Given the description of an element on the screen output the (x, y) to click on. 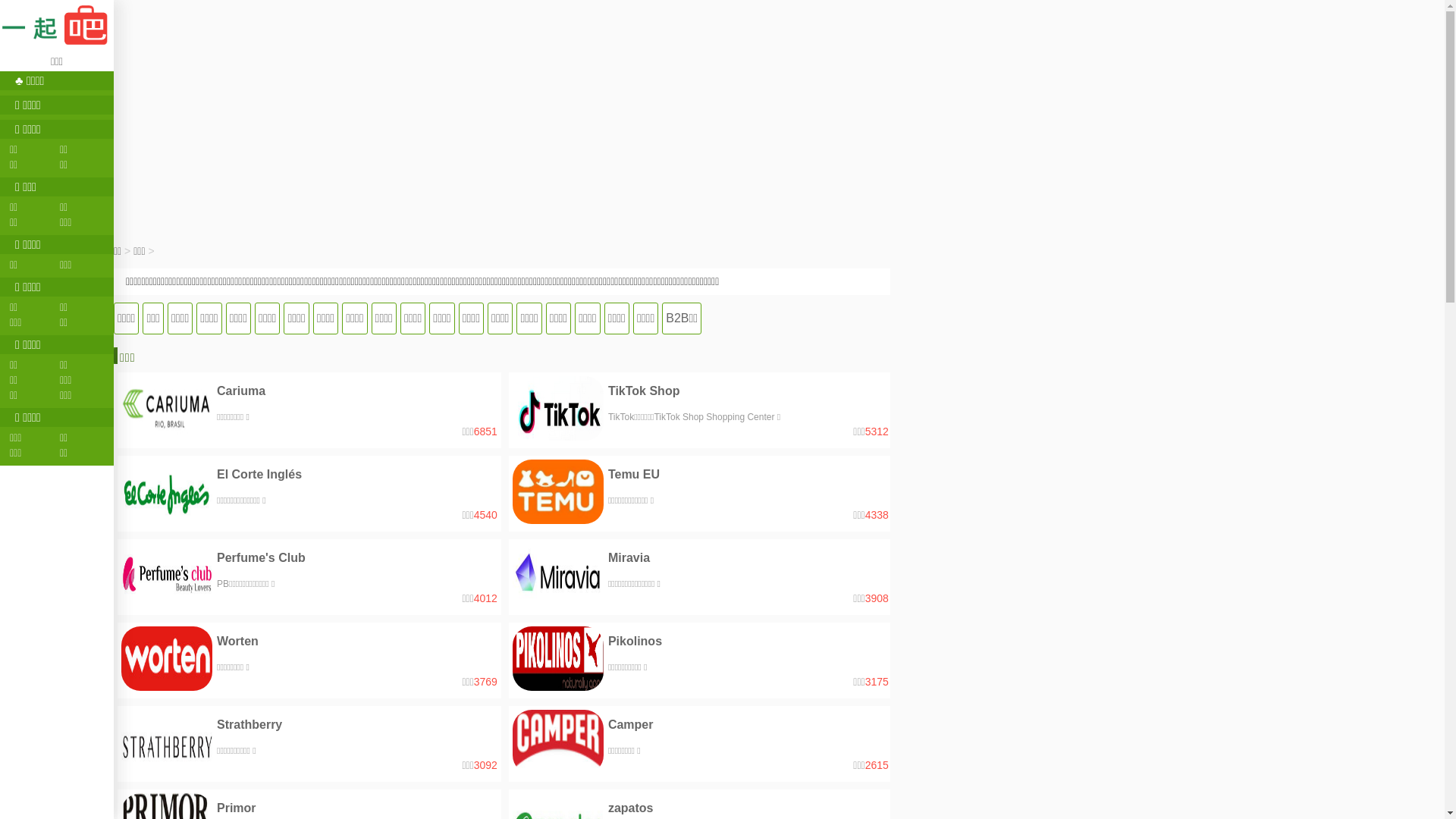
Perfume's Club Element type: text (260, 557)
Advertisement Element type: hover (779, 109)
zapatos Element type: text (630, 807)
Camper Element type: text (630, 724)
TikTok Shop Element type: text (644, 390)
Cariuma Element type: text (240, 390)
Temu EU Element type: text (633, 473)
Worten Element type: text (237, 640)
Pikolinos Element type: text (635, 640)
Miravia Element type: text (628, 557)
Strathberry Element type: text (249, 724)
Primor Element type: text (236, 807)
